Given the description of an element on the screen output the (x, y) to click on. 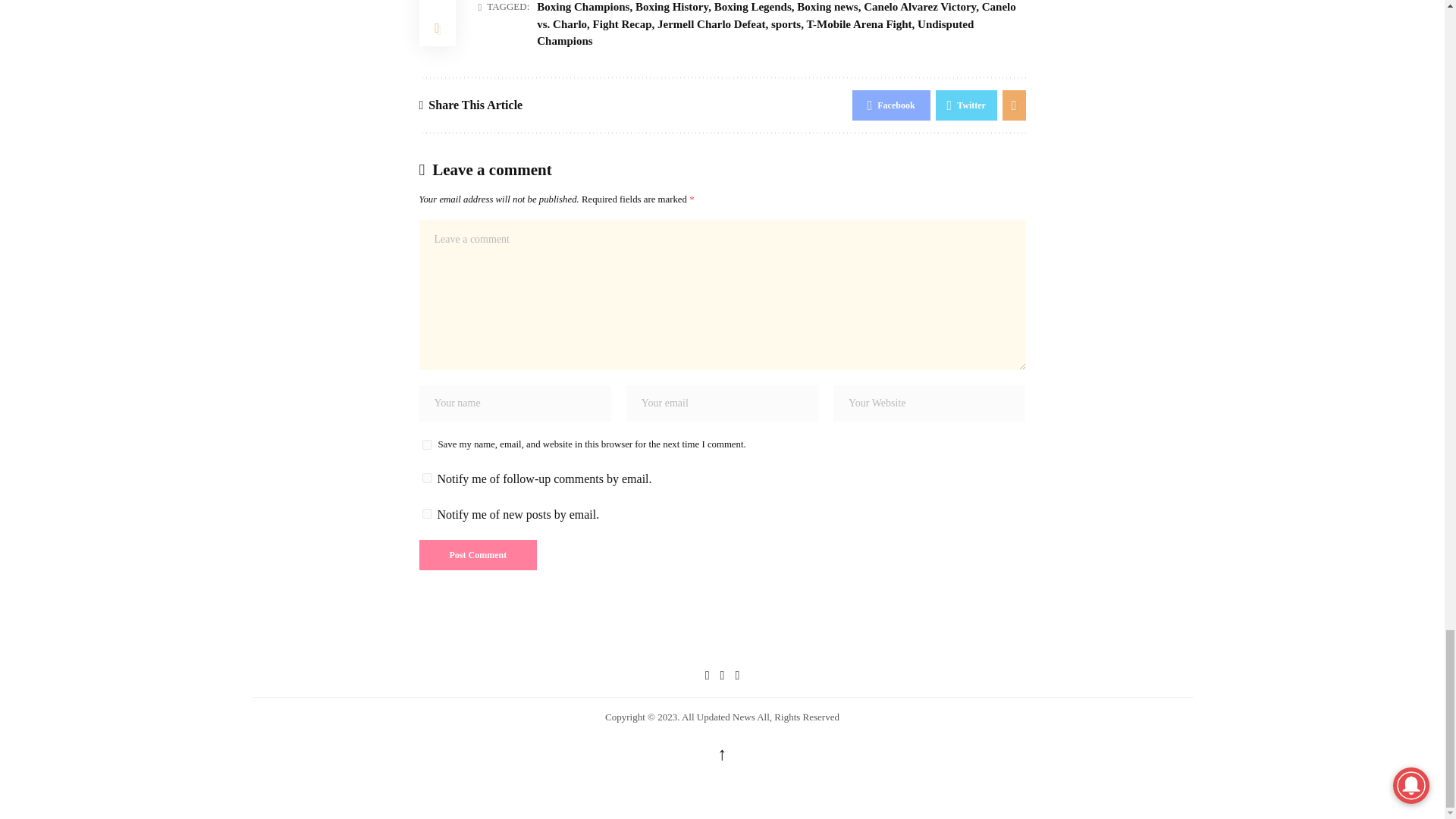
subscribe (426, 513)
Post Comment (478, 554)
subscribe (426, 478)
All Updated News (721, 638)
yes (426, 444)
